Given the description of an element on the screen output the (x, y) to click on. 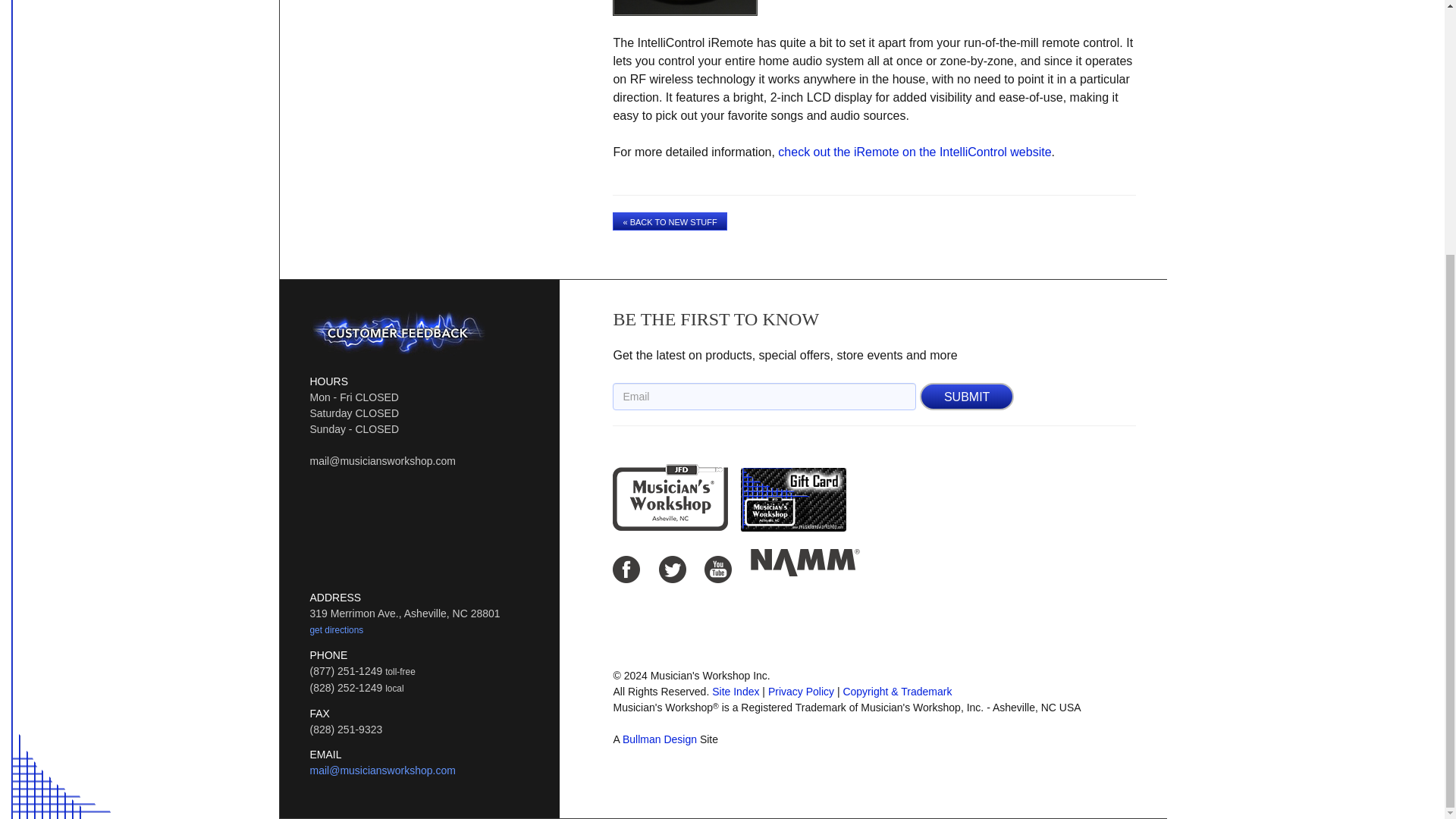
Privacy Policy (801, 691)
Facebook (626, 569)
check out the iRemote on the IntelliControl website (914, 151)
Back to New Stuff (669, 221)
Email us (381, 770)
Bullman Design (660, 739)
Copyright and Trademark Notice (897, 691)
Submit (966, 396)
Submit (966, 396)
YouTube (718, 569)
NAMM (805, 562)
Feedback (397, 332)
Twitter (672, 569)
Twitter (672, 569)
Musician's Workshop (670, 497)
